Given the description of an element on the screen output the (x, y) to click on. 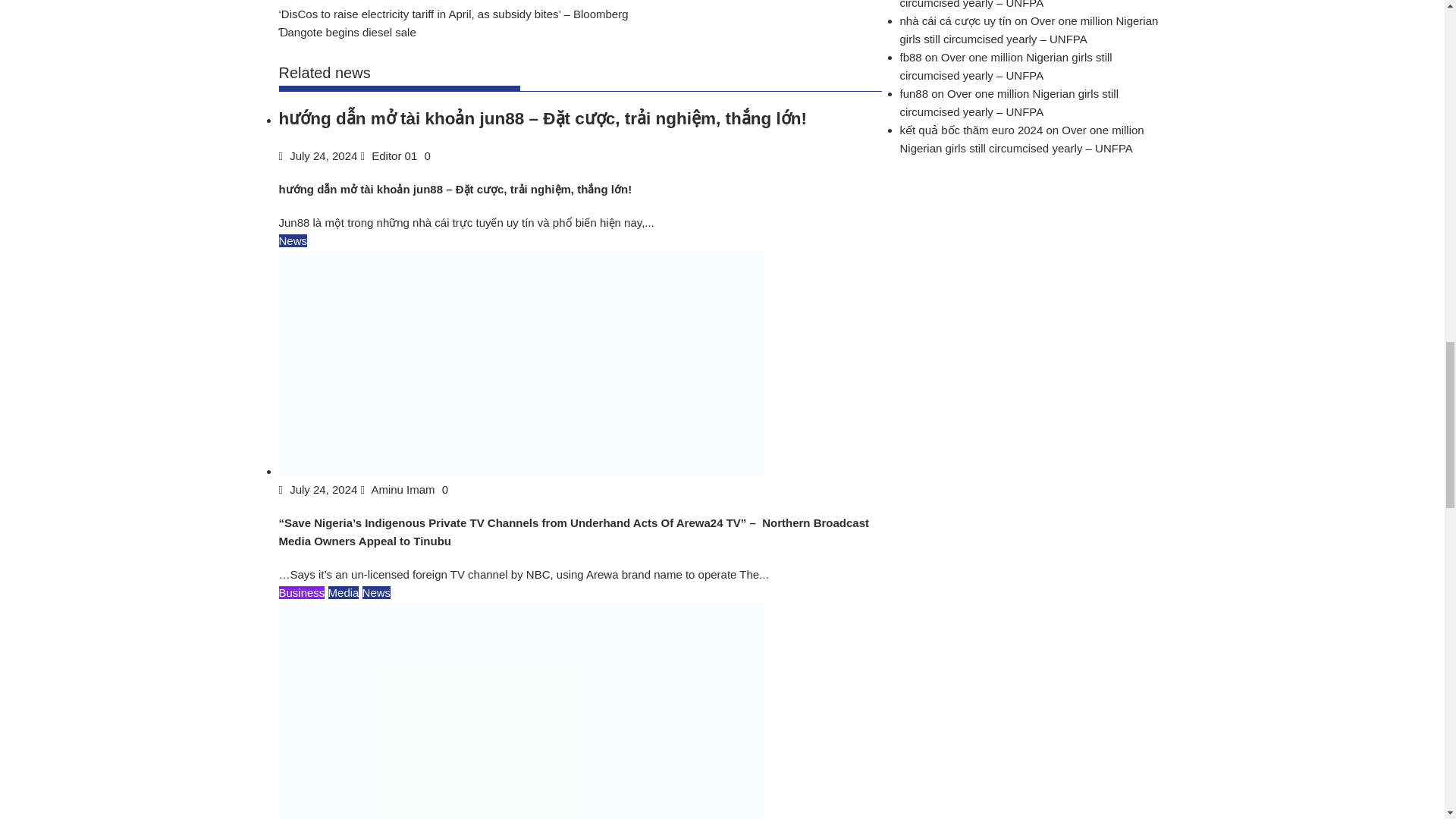
Editor 01 (390, 155)
Aminu Imam (399, 489)
July 24, 2024 (320, 155)
Editor 01 (390, 155)
